Given the description of an element on the screen output the (x, y) to click on. 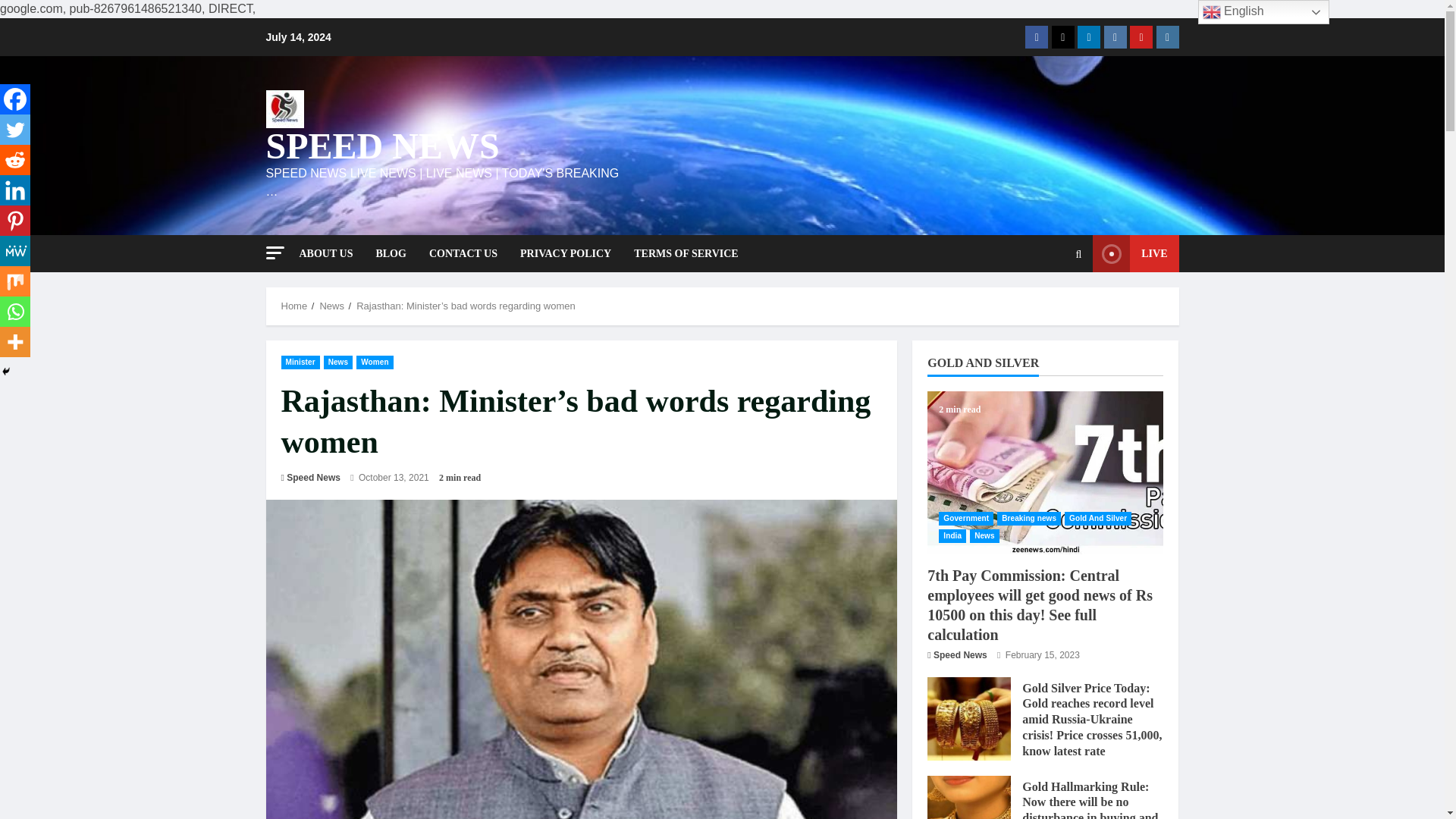
SPEED NEWS (381, 146)
Reddit (15, 159)
Pinterest (15, 220)
Linkedin (15, 190)
Instagram (1166, 36)
Facebook (1036, 36)
Twitter (15, 129)
Youtube (1141, 36)
Facebook (15, 99)
VK (1114, 36)
Linkedin (1088, 36)
MeWe (15, 250)
Twitter (1062, 36)
